Given the description of an element on the screen output the (x, y) to click on. 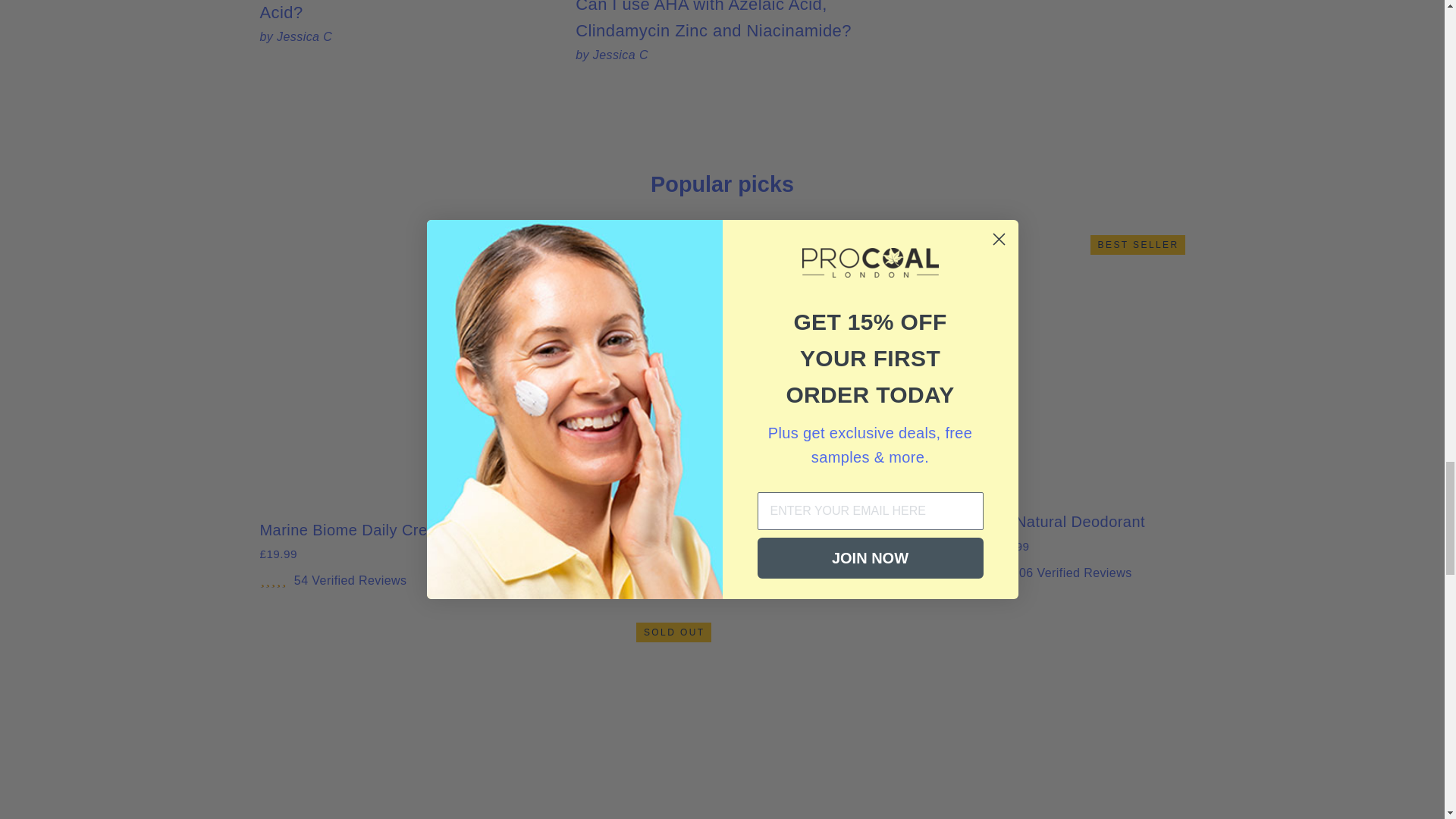
4.7 out of 5 stars (272, 579)
4.7 out of 5 stars (746, 571)
4.7 out of 5 stars (984, 571)
4.9 out of 5 stars (509, 583)
